Given the description of an element on the screen output the (x, y) to click on. 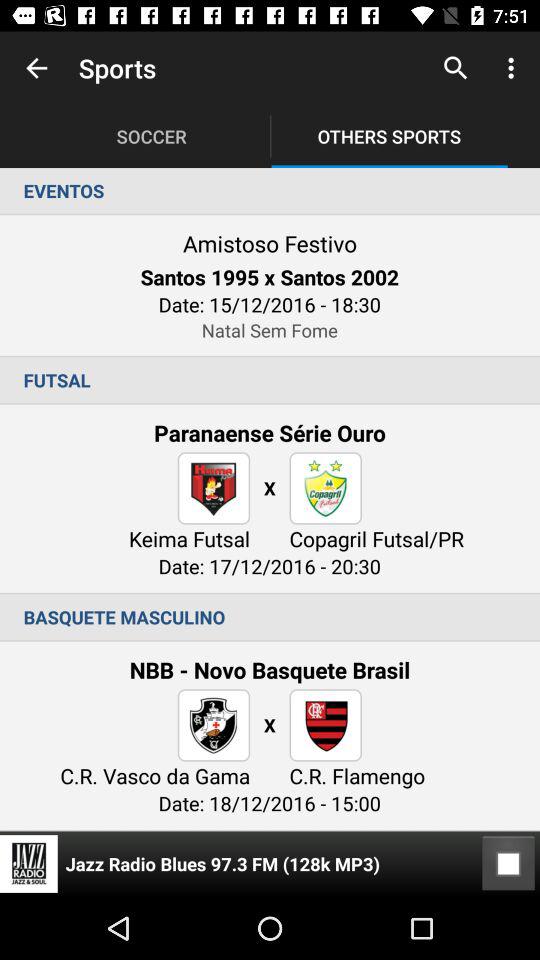
select icon above the others sports item (455, 67)
